Given the description of an element on the screen output the (x, y) to click on. 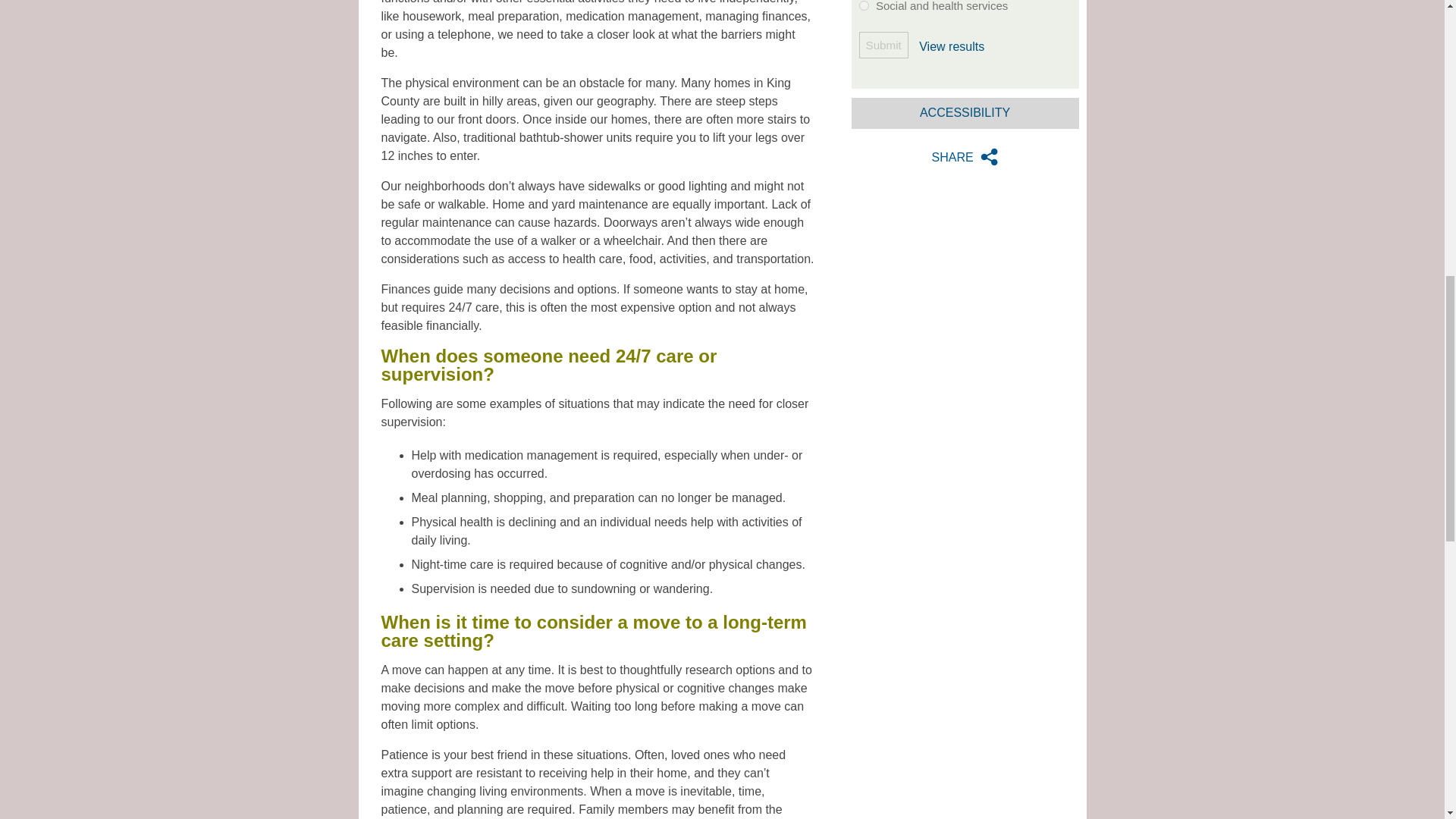
Submit (883, 44)
Social and health services (863, 5)
